Given the description of an element on the screen output the (x, y) to click on. 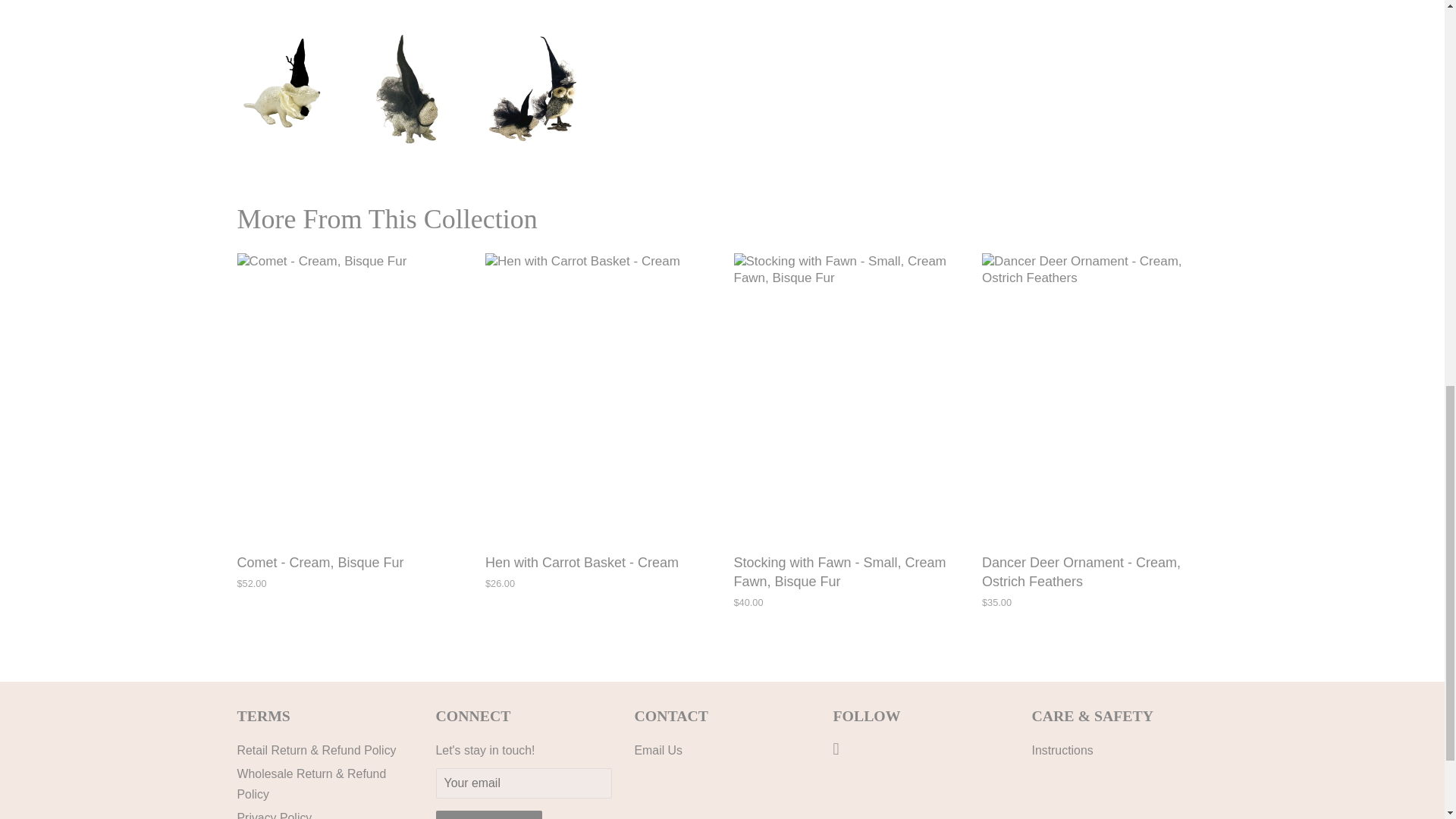
Subscribe (488, 814)
Contact (648, 749)
